Given the description of an element on the screen output the (x, y) to click on. 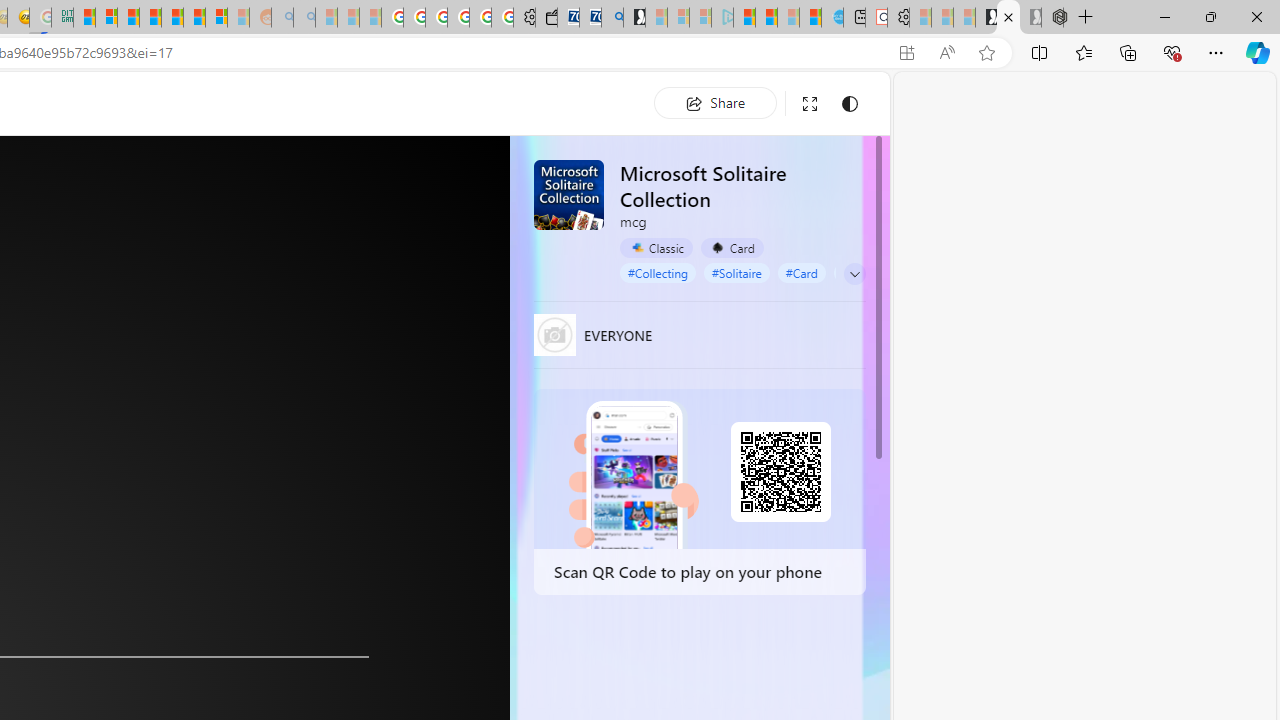
#Collecting (658, 272)
Share (715, 102)
#Single Player (879, 272)
EVERYONE (554, 334)
Class: expand-arrow neutral (854, 273)
Kinda Frugal - MSN (194, 17)
Card (732, 248)
Classic (656, 247)
